Given the description of an element on the screen output the (x, y) to click on. 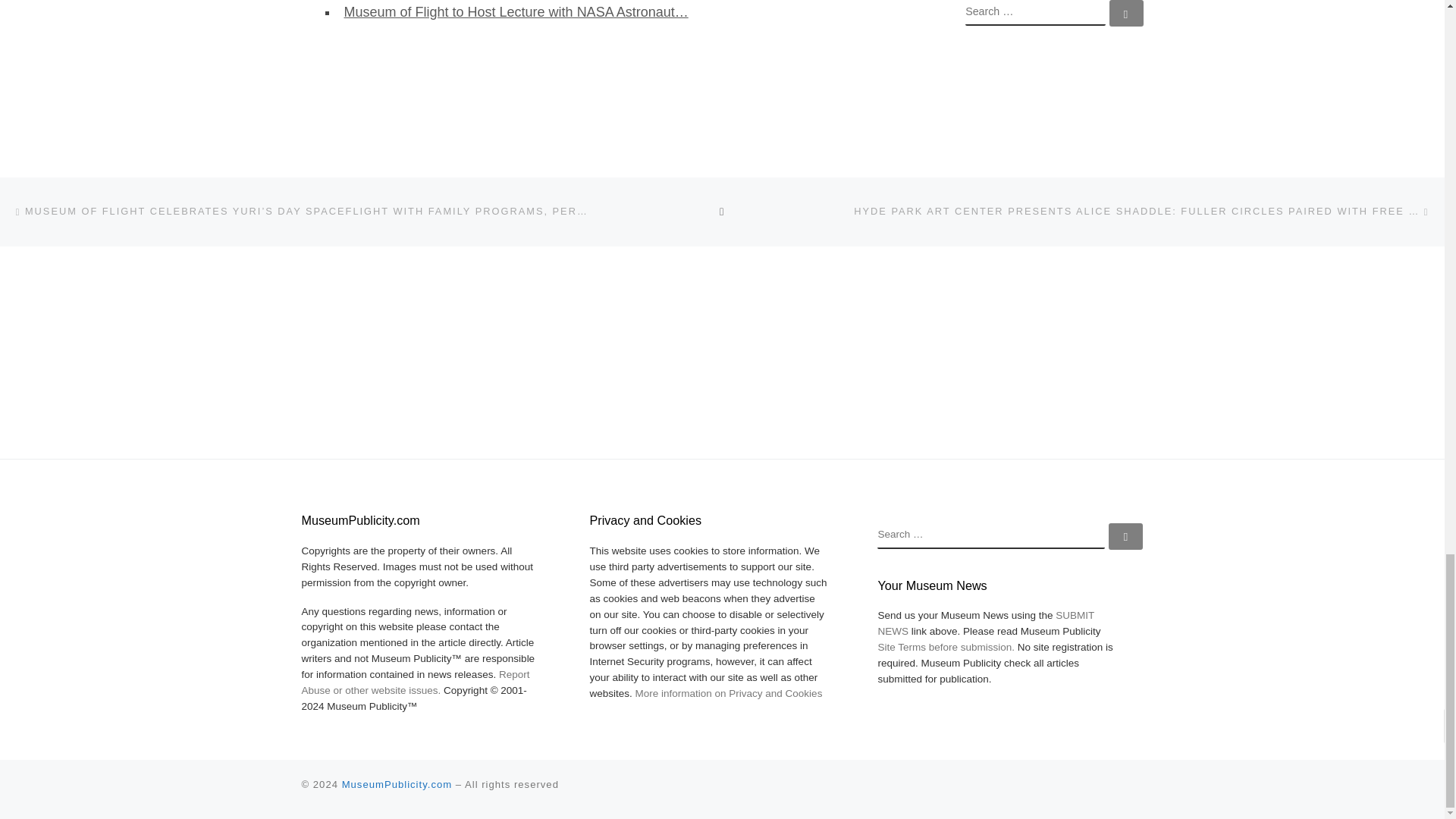
BACK TO POST LIST (722, 210)
Back to post list (722, 210)
MuseumPublicity.com (397, 784)
